Given the description of an element on the screen output the (x, y) to click on. 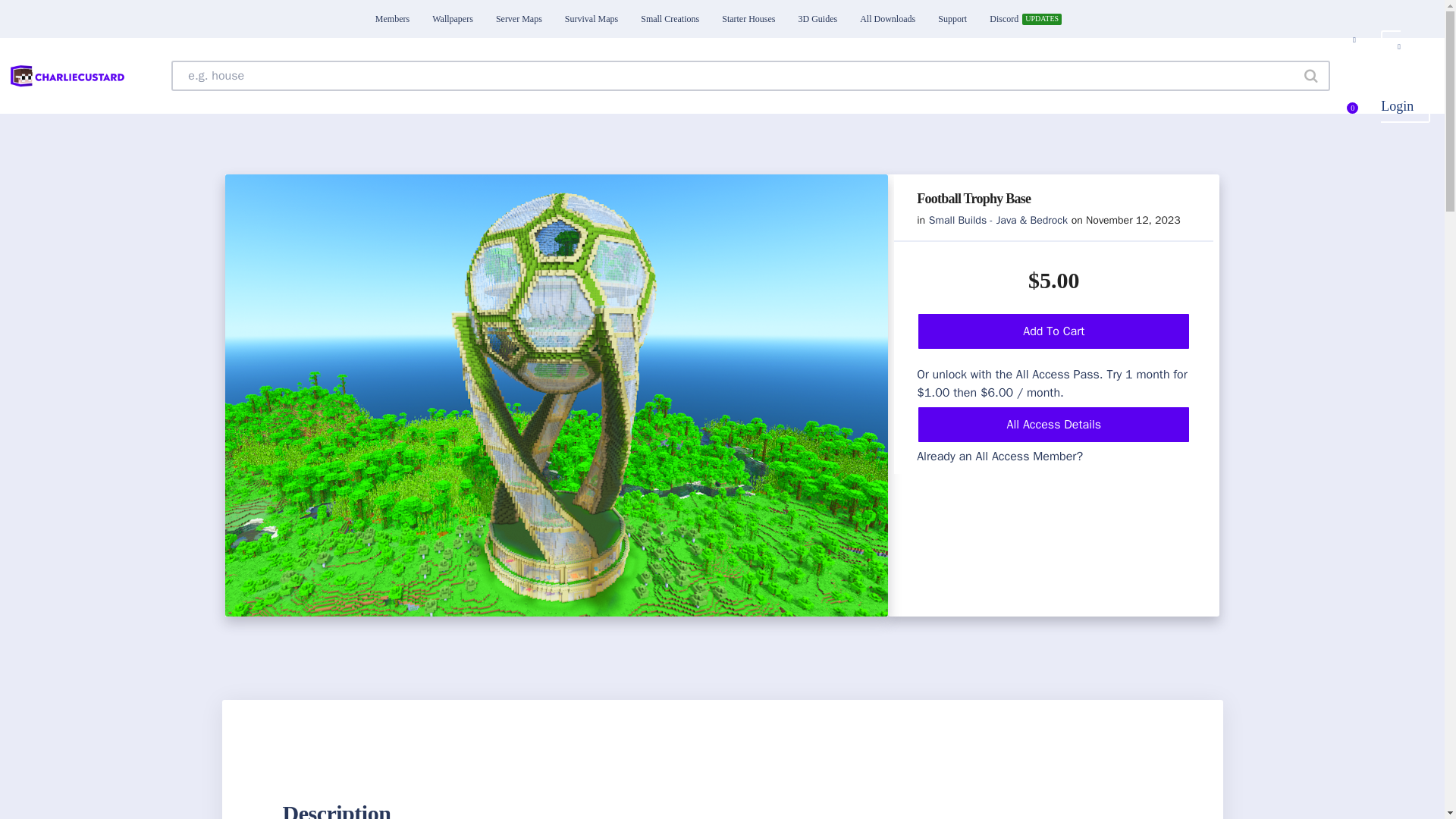
3D Guides (817, 18)
Survival Maps (590, 18)
Add to Cart (159, 18)
DiscordUPDATES (1024, 18)
Wallpapers (452, 18)
Members (392, 18)
All Downloads (887, 18)
Add To Cart (1054, 331)
Server Maps (518, 18)
Starter Houses (748, 18)
Small Creations (669, 18)
